Given the description of an element on the screen output the (x, y) to click on. 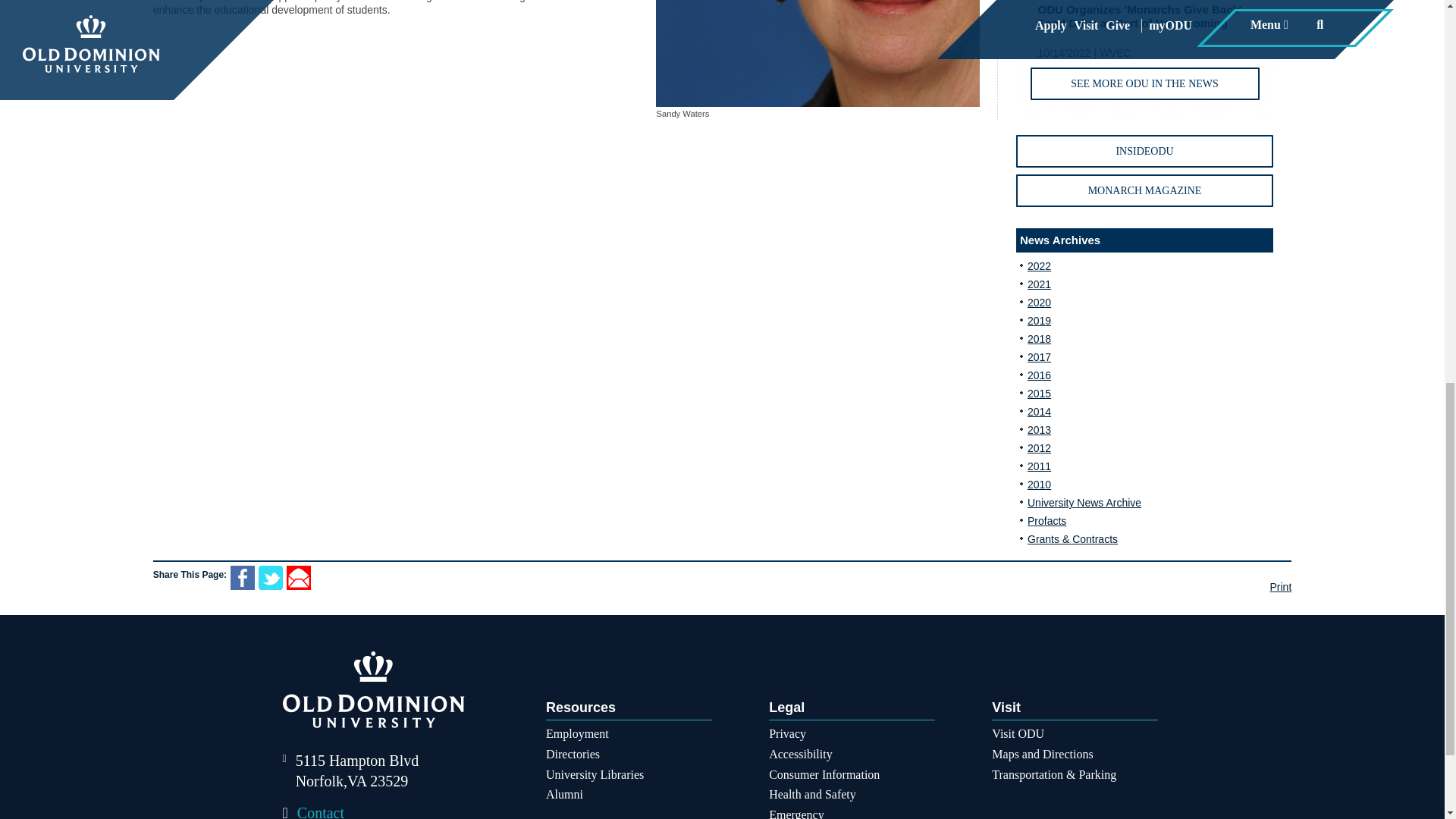
2021 (1039, 284)
2018 (1039, 338)
2021 (1039, 284)
2022 (1039, 265)
2016 (1039, 375)
2010 (1039, 484)
2020 (1039, 302)
MONARCH MAGAZINE (1144, 190)
2013 (1039, 429)
2018 (1039, 338)
